Given the description of an element on the screen output the (x, y) to click on. 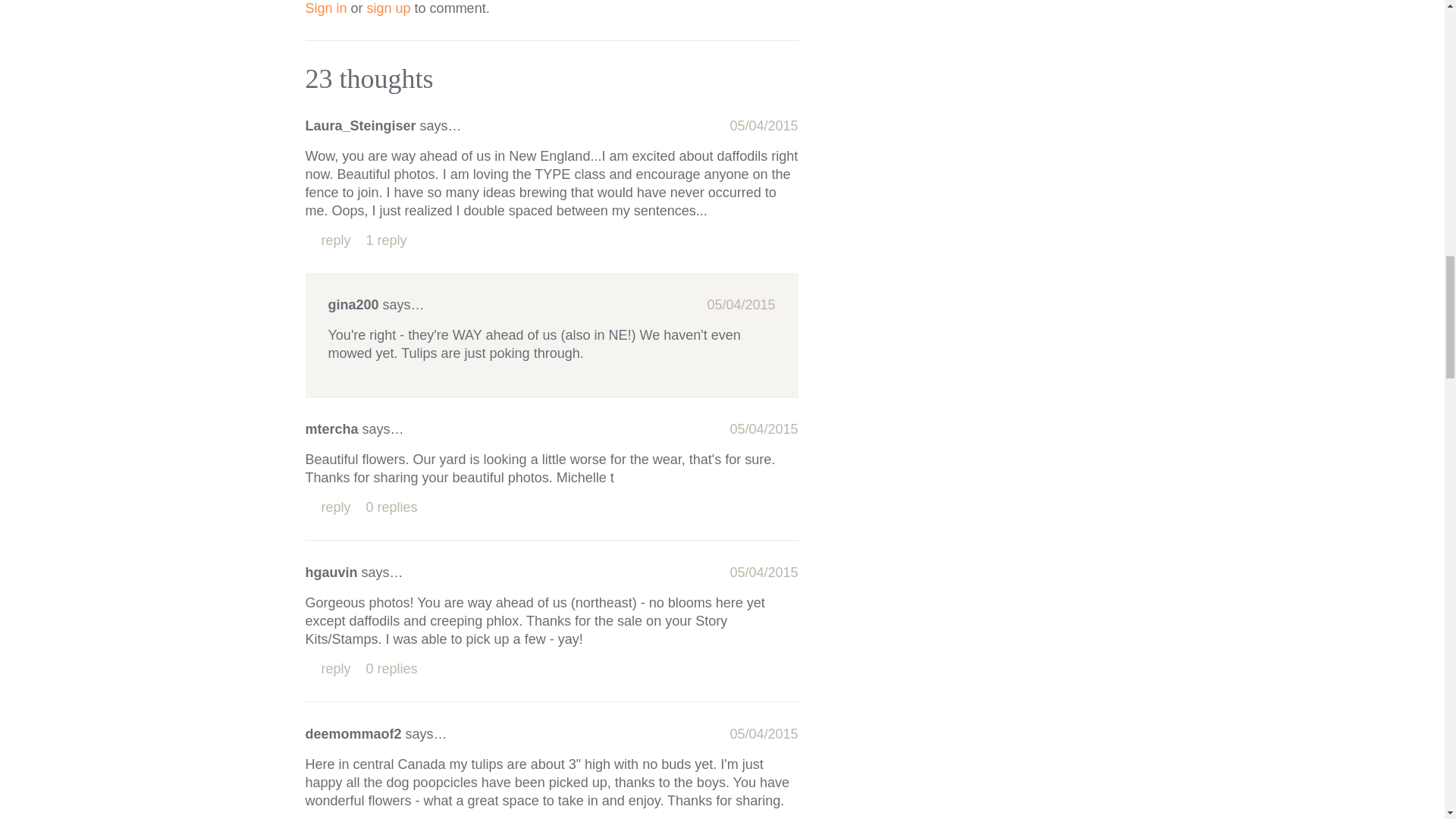
2015-05-04T08:45:31-04:00 (763, 734)
2015-05-04T07:33:50-04:00 (763, 572)
2015-05-04T06:57:53-04:00 (763, 125)
2015-05-04T20:49:38-04:00 (740, 304)
2015-05-04T07:12:06-04:00 (763, 428)
